Given the description of an element on the screen output the (x, y) to click on. 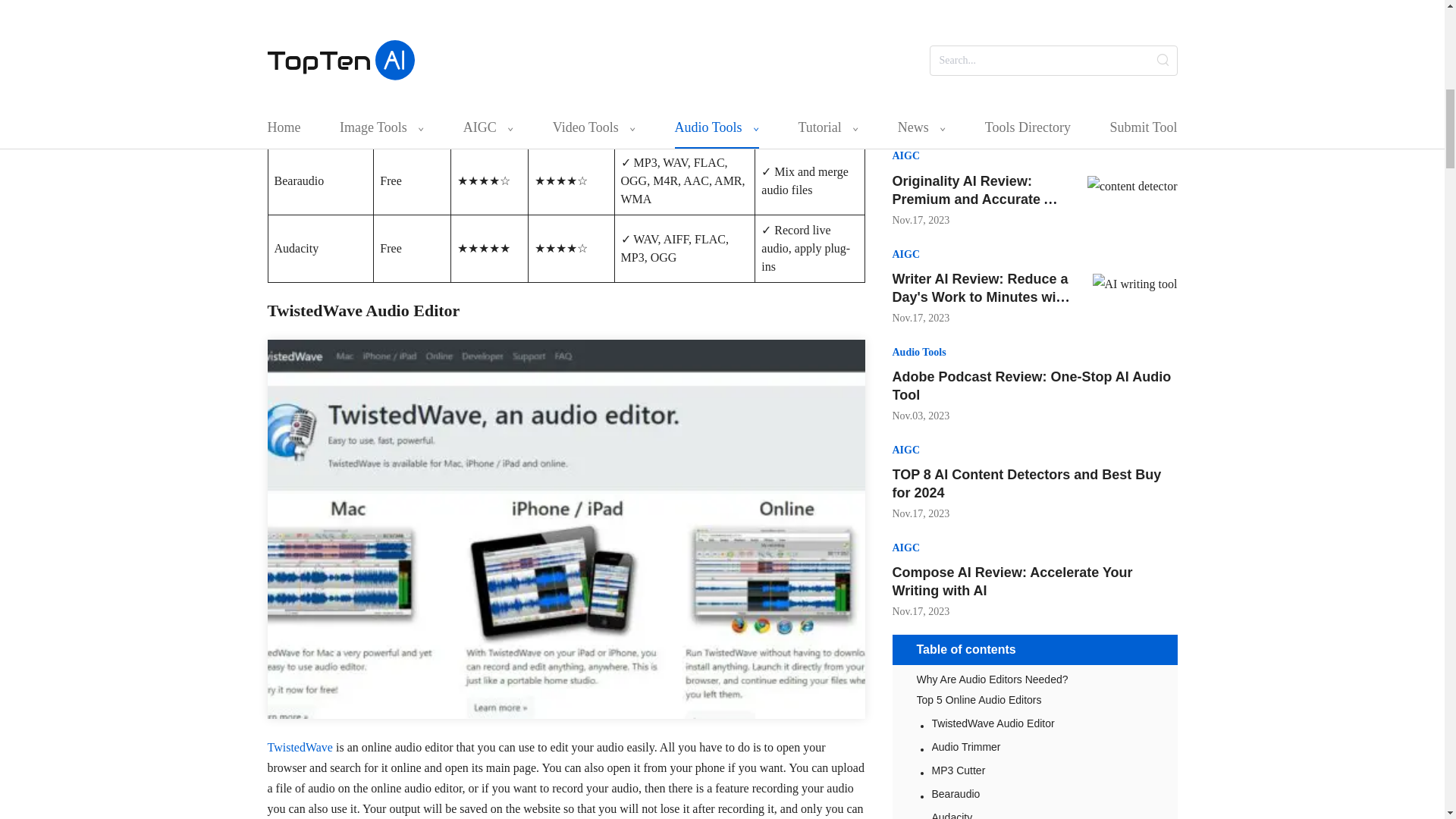
TwistedWave (298, 747)
Top 5 Online Audio Editors (1034, 699)
Why Are Audio Editors Needed? (1034, 679)
